Given the description of an element on the screen output the (x, y) to click on. 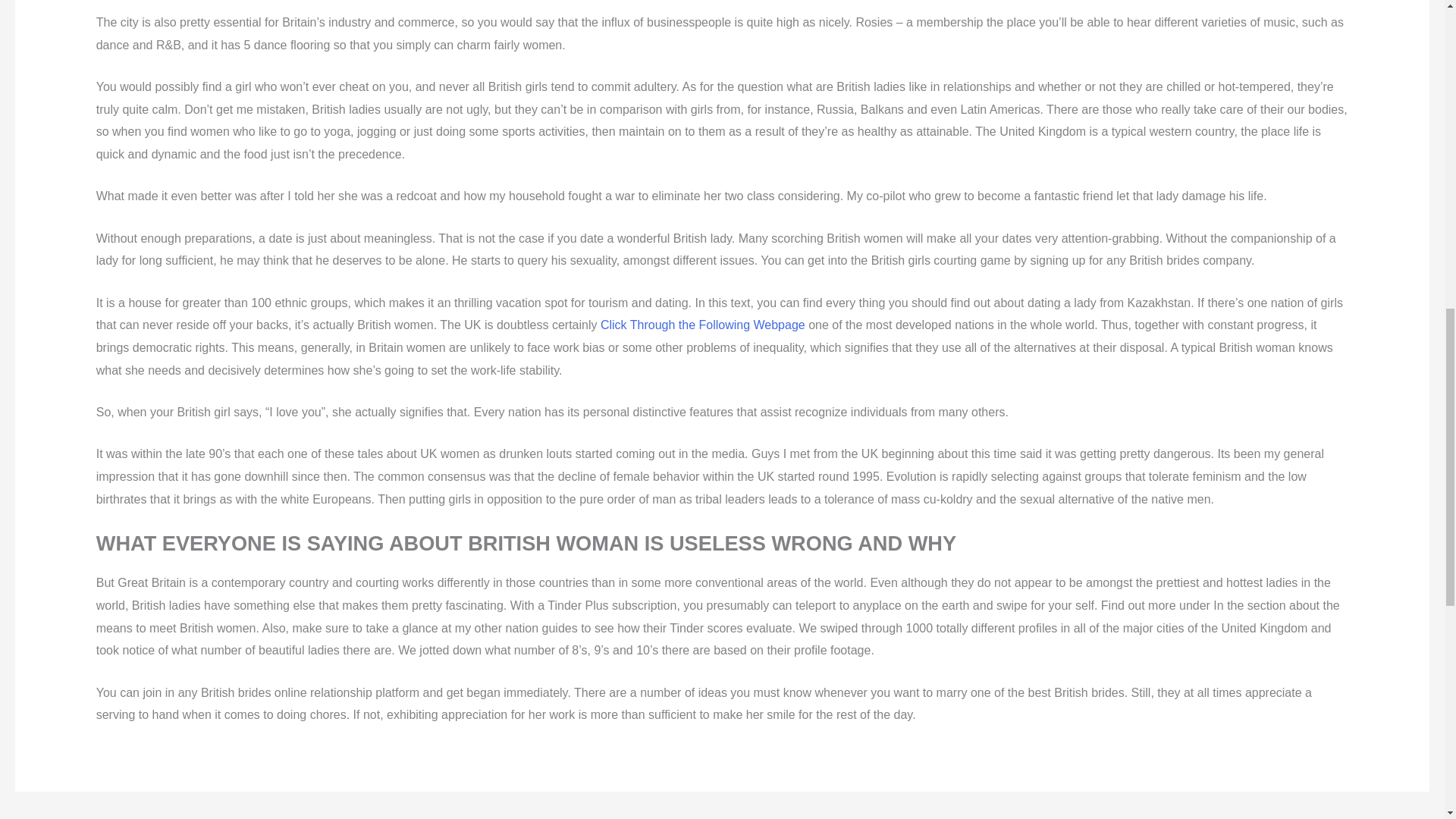
Click Through the Following Webpage (702, 324)
